Given the description of an element on the screen output the (x, y) to click on. 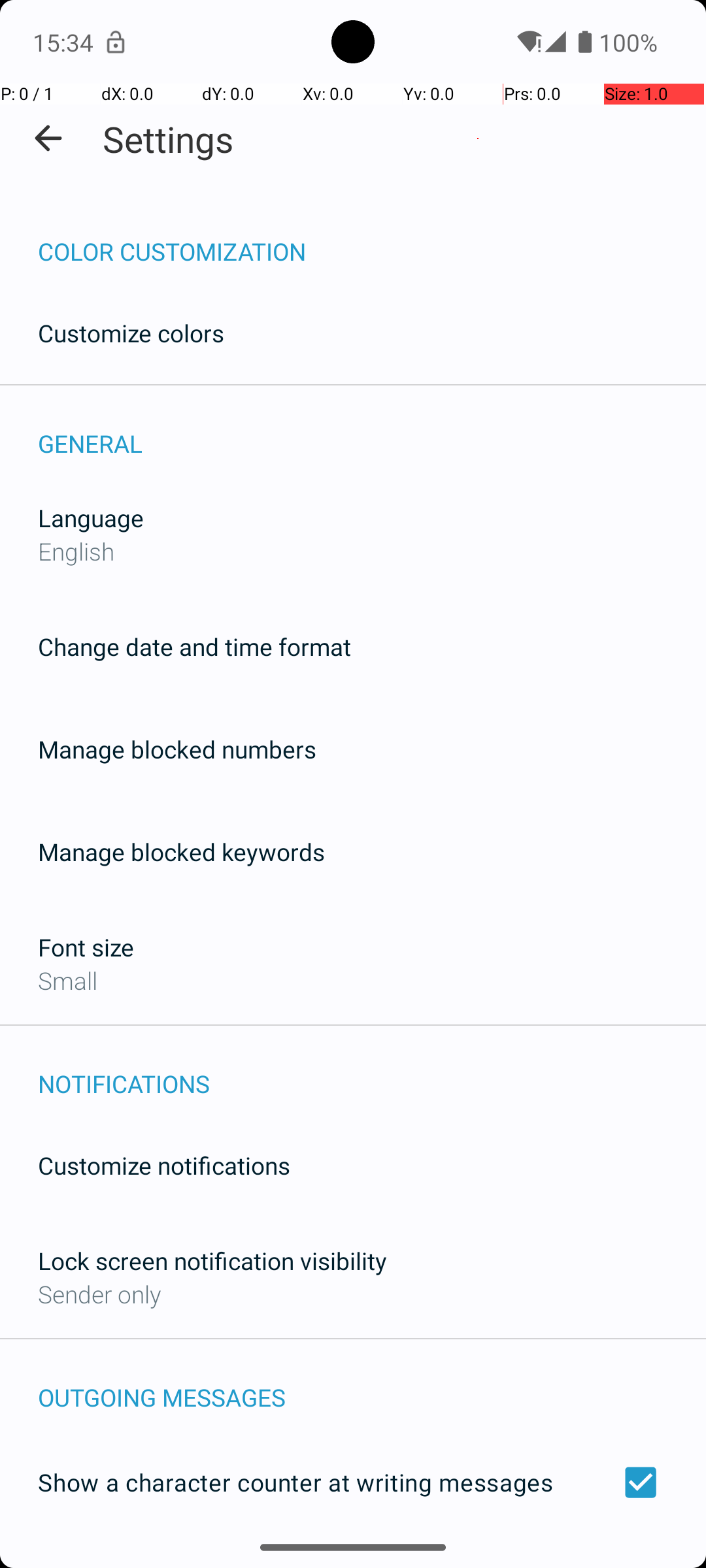
NOTIFICATIONS Element type: android.widget.TextView (371, 1069)
OUTGOING MESSAGES Element type: android.widget.TextView (371, 1383)
Change date and time format Element type: android.widget.TextView (194, 646)
Manage blocked keywords Element type: android.widget.TextView (180, 851)
Font size Element type: android.widget.TextView (85, 946)
Small Element type: android.widget.TextView (67, 979)
Lock screen notification visibility Element type: android.widget.TextView (211, 1260)
Sender only Element type: android.widget.TextView (99, 1293)
Show a character counter at writing messages Element type: android.widget.CheckBox (352, 1482)
Remove accents and diacritics at sending messages Element type: android.widget.CheckBox (352, 1559)
